Given the description of an element on the screen output the (x, y) to click on. 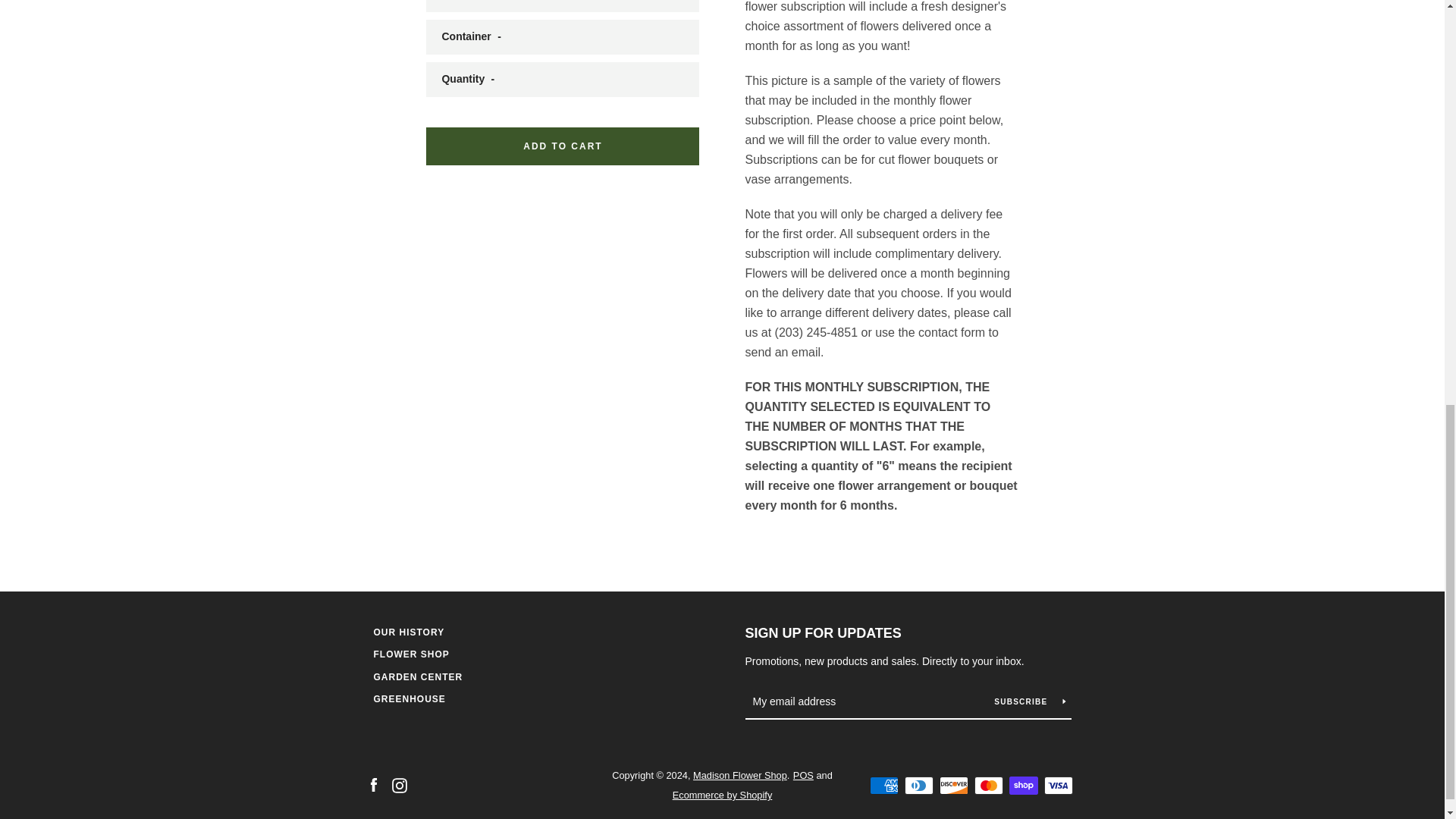
Visa (1057, 785)
Madison Flower Shop on Facebook (372, 784)
Madison Flower Shop on Instagram (399, 784)
Shop Pay (1022, 785)
Discover (953, 785)
Mastercard (988, 785)
American Express (883, 785)
Diners Club (918, 785)
